Given the description of an element on the screen output the (x, y) to click on. 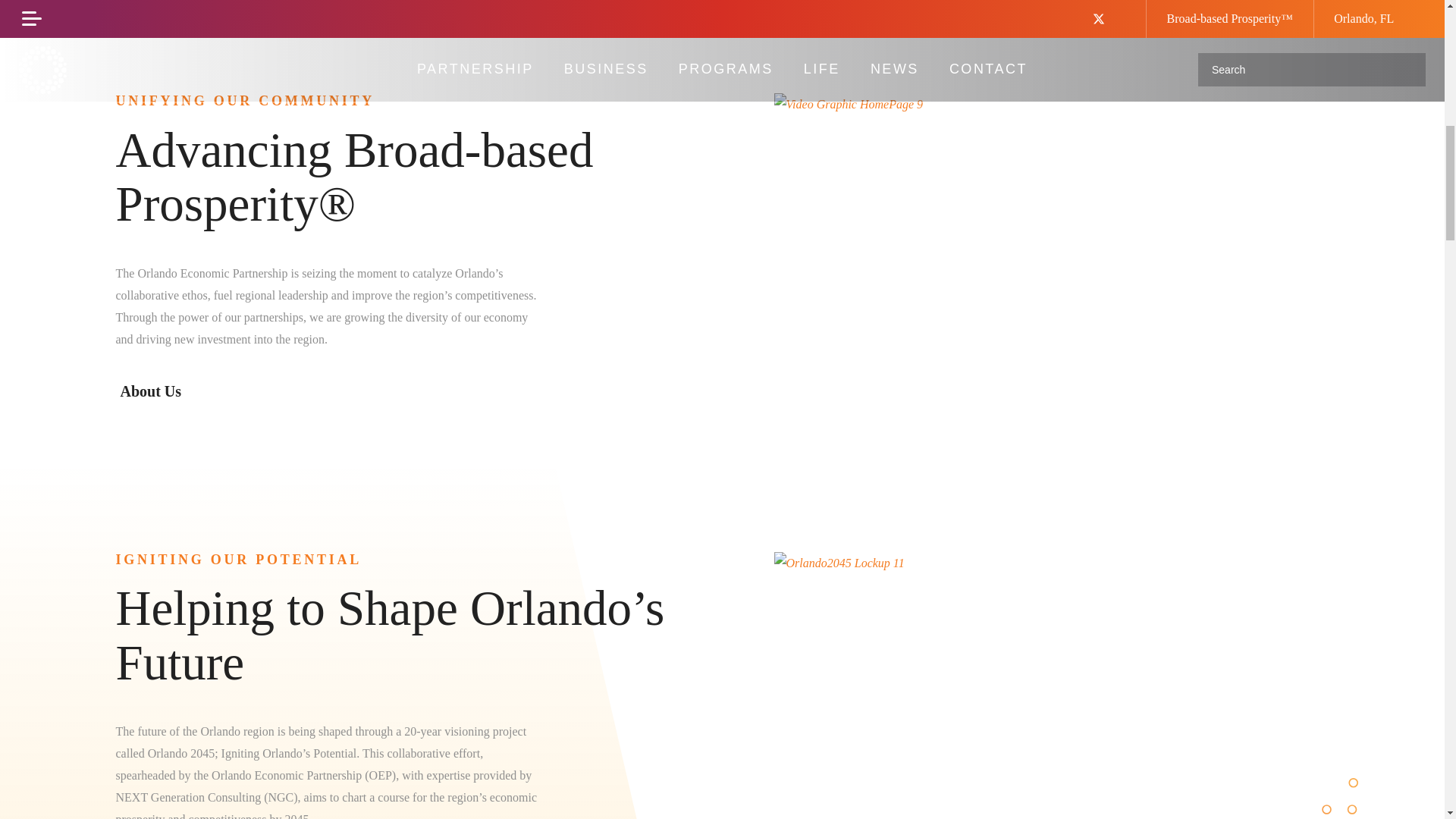
Home 12 (838, 563)
Home 10 (848, 104)
